Given the description of an element on the screen output the (x, y) to click on. 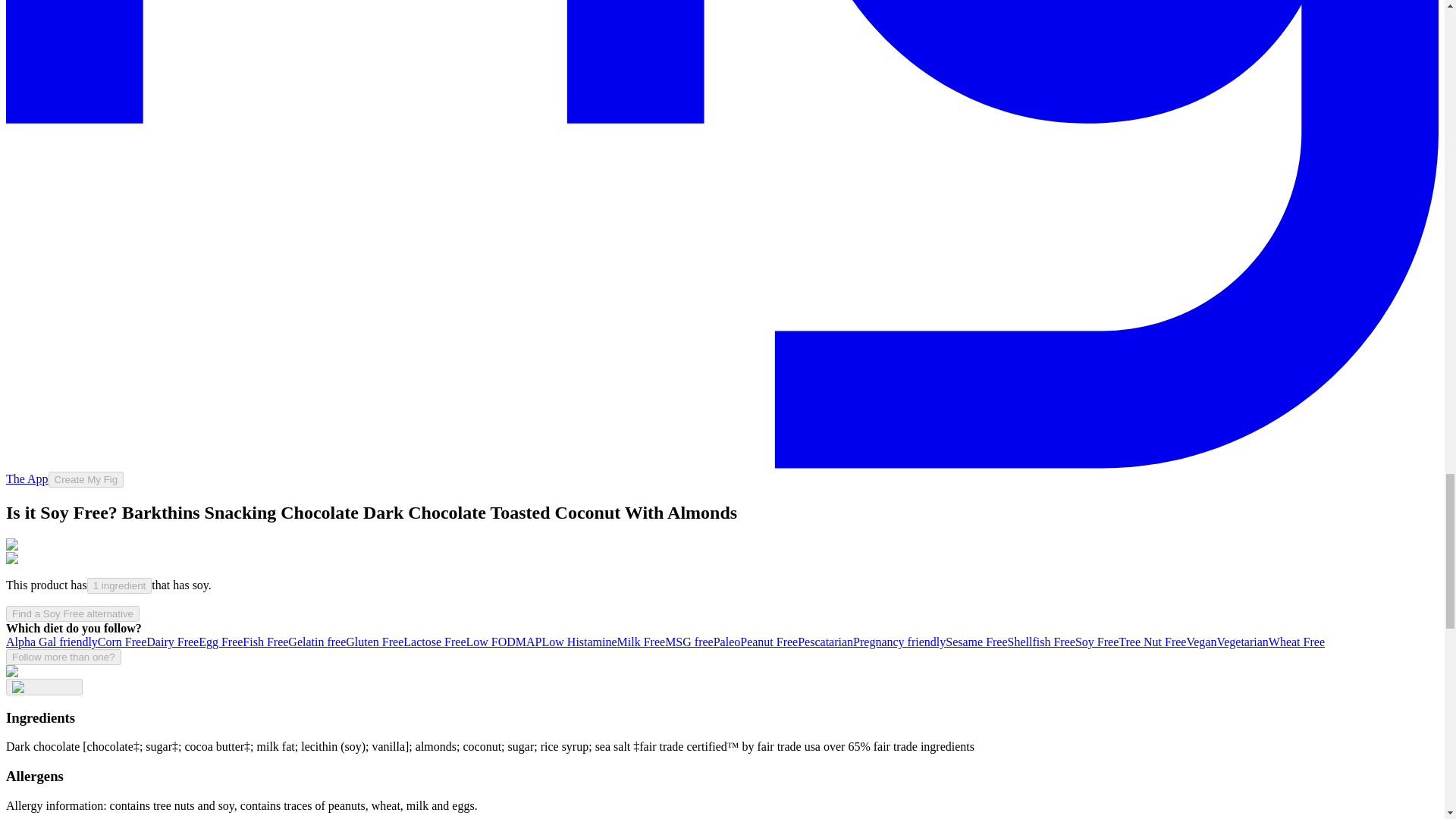
Fish Free (265, 641)
Peanut Free (768, 641)
Alpha Gal friendly (51, 641)
Pescatarian (825, 641)
Low Histamine (578, 641)
Pregnancy friendly (898, 641)
Low FODMAP (503, 641)
MSG free (689, 641)
Paleo (727, 641)
Gelatin free (317, 641)
Milk Free (641, 641)
Lactose Free (434, 641)
Find a Soy Free alternative (72, 613)
Corn Free (122, 641)
Create My Fig (85, 479)
